Given the description of an element on the screen output the (x, y) to click on. 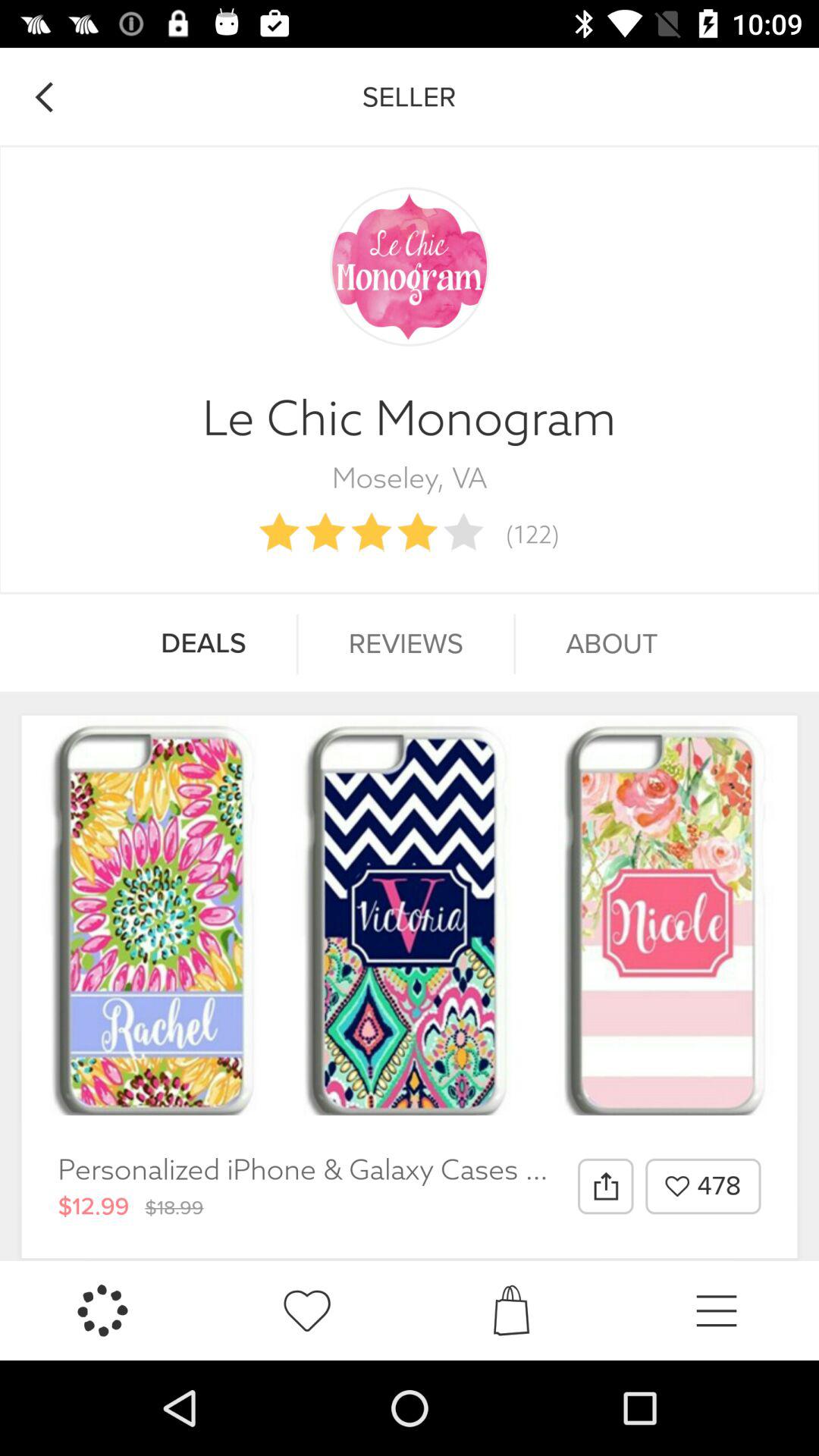
flip until the about (611, 643)
